Given the description of an element on the screen output the (x, y) to click on. 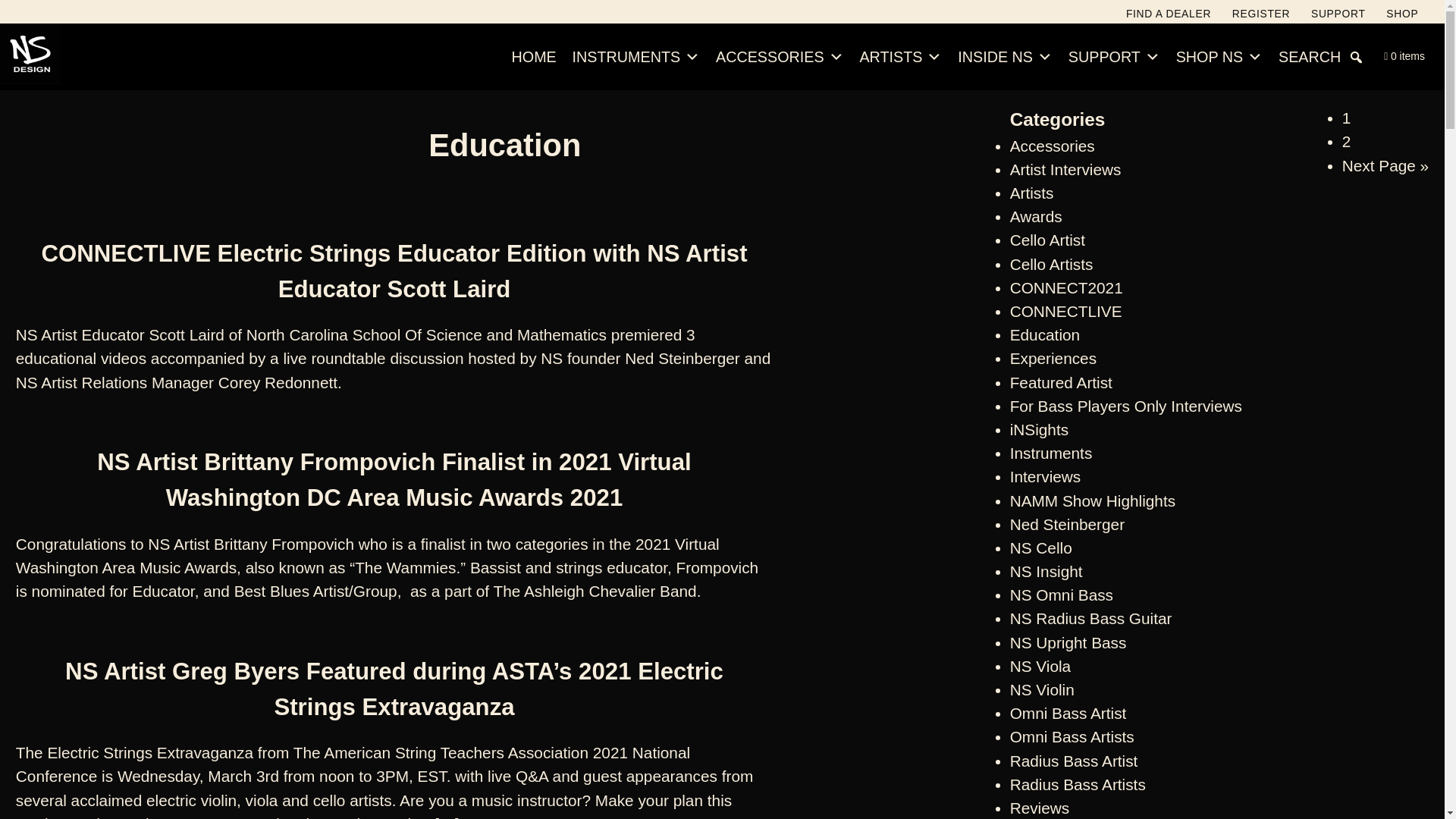
SUPPORT (1337, 16)
FIND A DEALER (1168, 16)
REGISTER (1260, 16)
INSTRUMENTS (635, 57)
SHOP (1401, 16)
HOME (533, 57)
Start shopping (1404, 55)
